Given the description of an element on the screen output the (x, y) to click on. 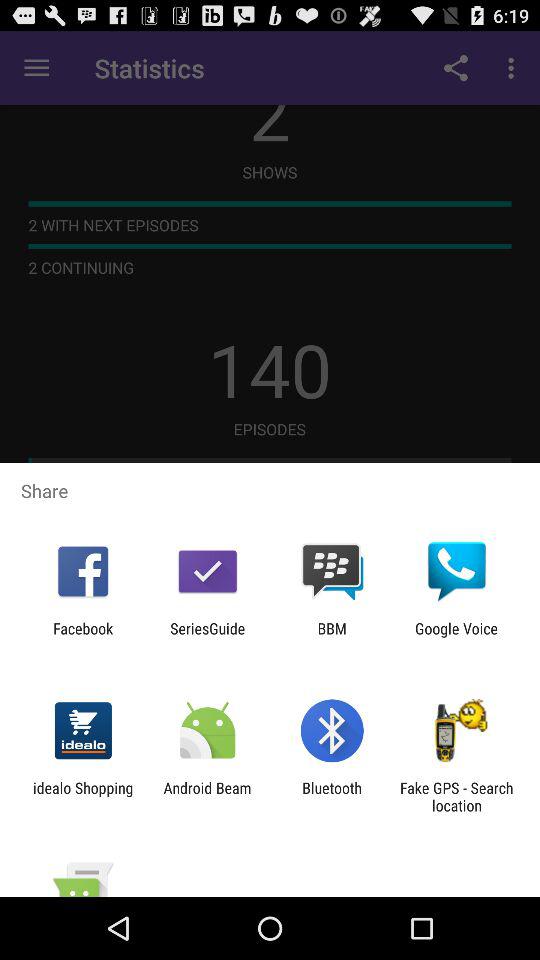
launch the android beam app (207, 796)
